Given the description of an element on the screen output the (x, y) to click on. 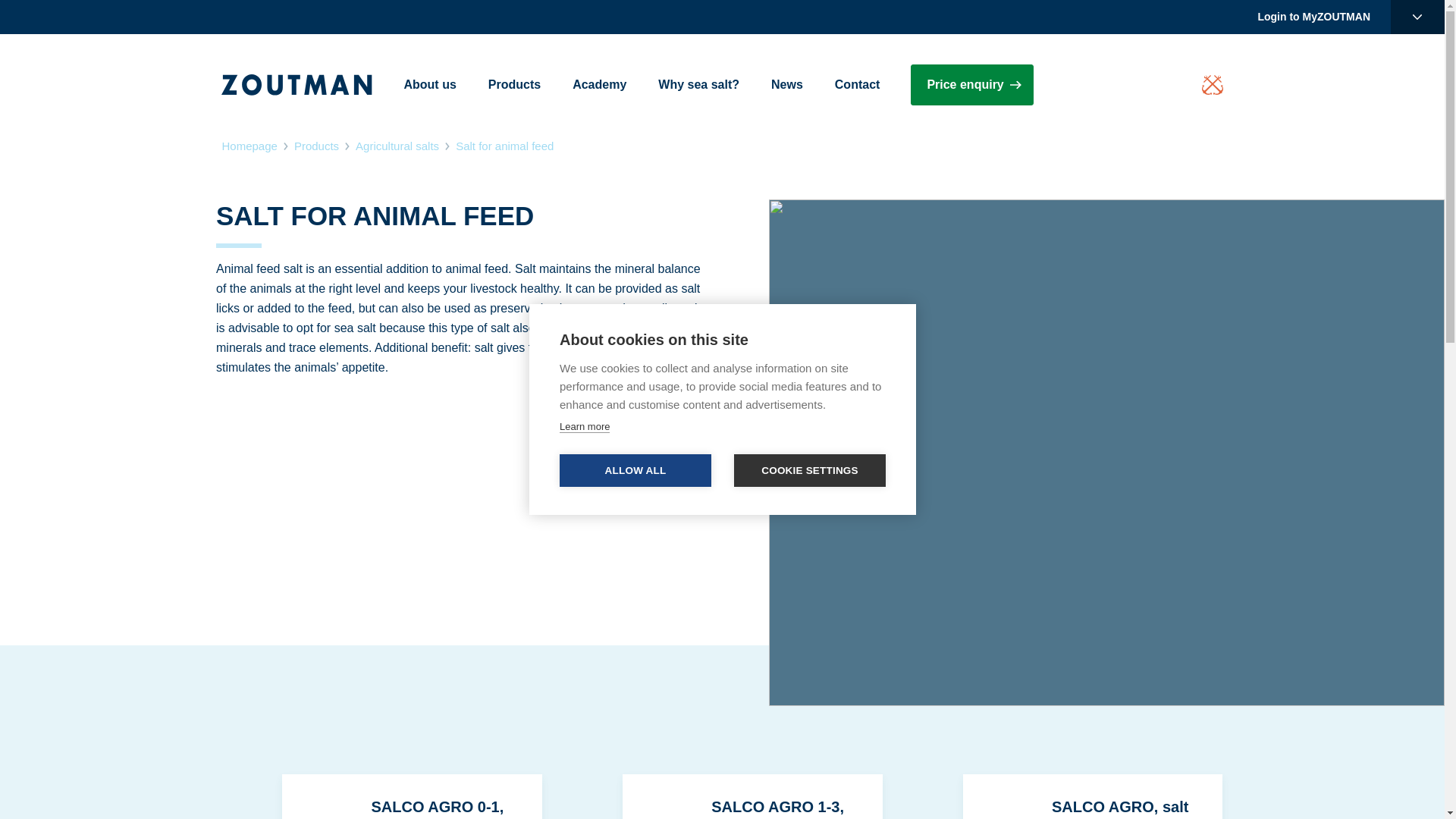
SALCO AGRO 0-1, salt for animal feed (381, 796)
SALCO AGRO, salt licks (1062, 796)
Learn more (584, 426)
COOKIE SETTINGS (809, 470)
SALCO AGRO 1-3, salt for animal feed and for agriculture (722, 796)
ALLOW ALL (635, 470)
